Given the description of an element on the screen output the (x, y) to click on. 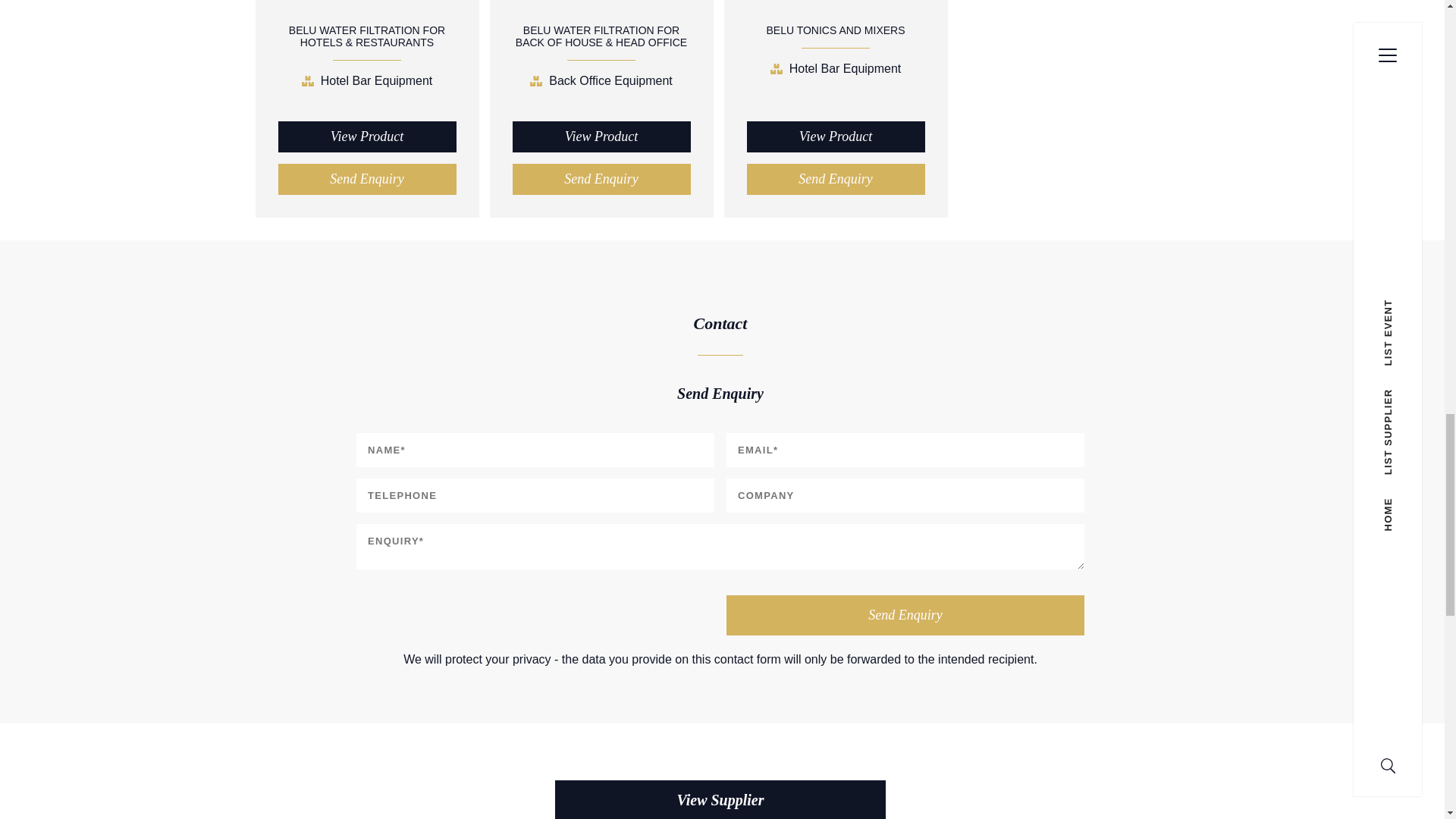
View Product (366, 136)
View Supplier (719, 799)
BELU TONICS AND MIXERS (834, 30)
Send Enquiry (905, 615)
Send Enquiry (601, 178)
View Product (834, 136)
View Product (601, 136)
Send Enquiry (834, 178)
Send Enquiry (366, 178)
